Given the description of an element on the screen output the (x, y) to click on. 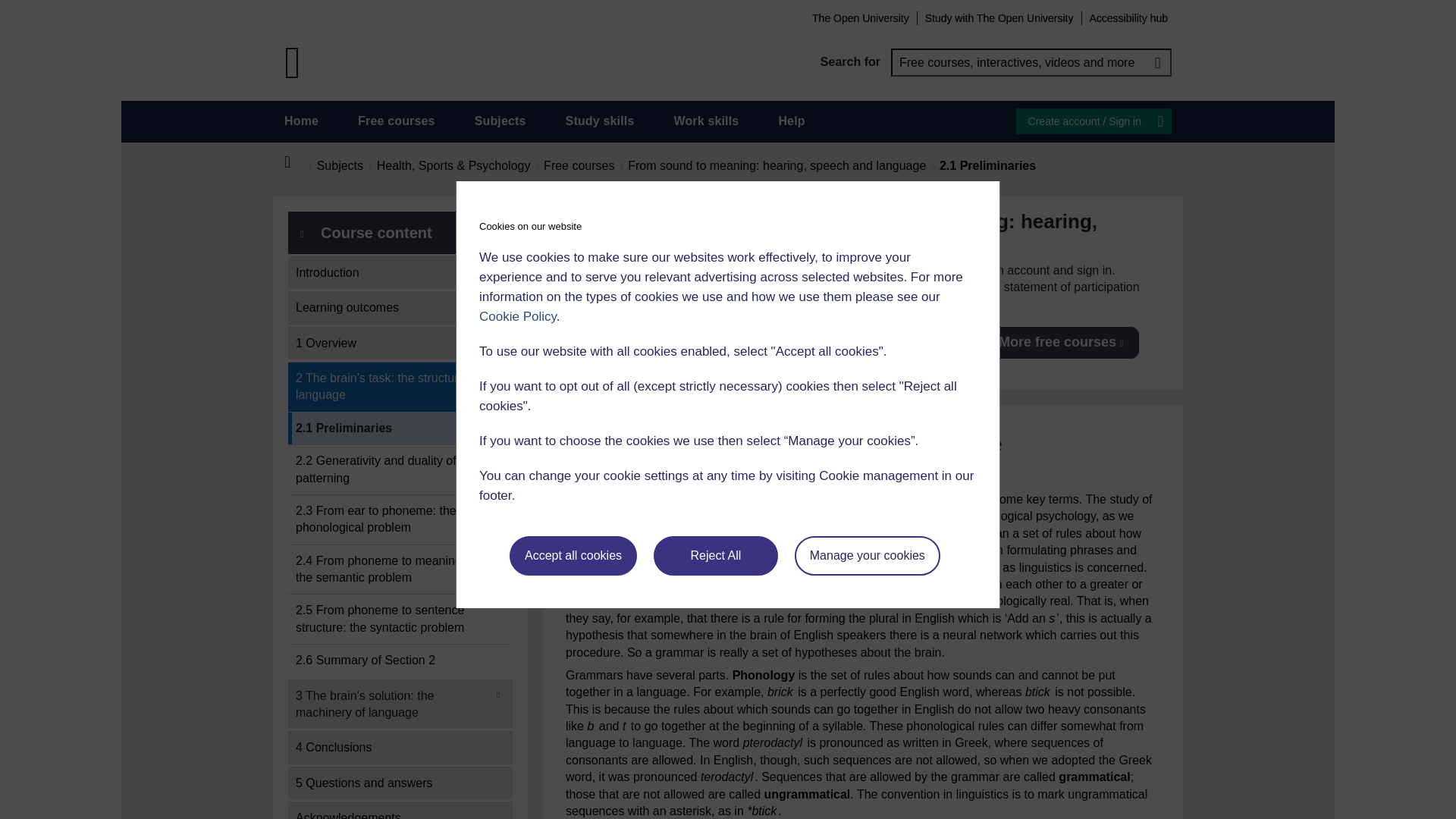
Work skills (705, 120)
Manage your cookies (867, 555)
Cookie Policy (517, 316)
Home (295, 162)
Subjects (499, 120)
Home (300, 120)
Help (791, 120)
Study with The Open University (999, 17)
Accessibility hub (1129, 17)
OpenLearn (292, 62)
Search (1157, 62)
Accept all cookies (573, 555)
Free courses (396, 120)
Reject All (715, 555)
Study skills (600, 120)
